Given the description of an element on the screen output the (x, y) to click on. 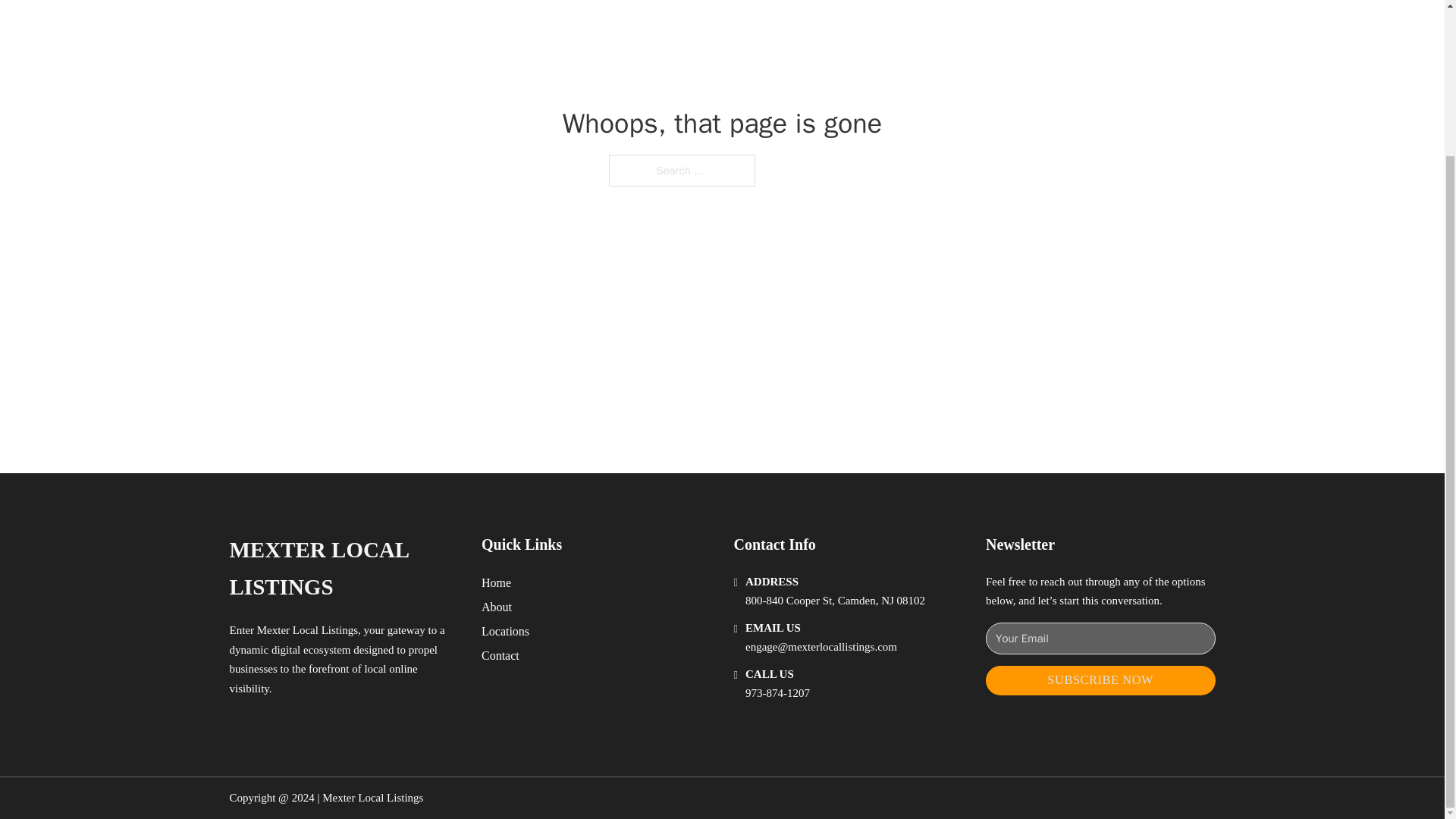
MEXTER LOCAL LISTINGS (343, 568)
Locations (505, 630)
About (496, 607)
973-874-1207 (777, 693)
Home (496, 582)
SUBSCRIBE NOW (1100, 680)
Contact (500, 655)
